Given the description of an element on the screen output the (x, y) to click on. 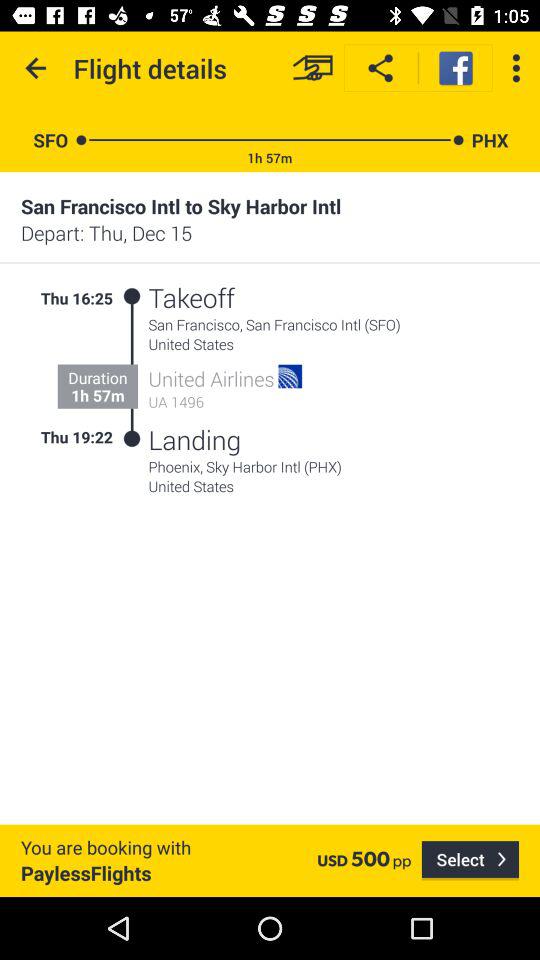
open item above the sfo (36, 68)
